Given the description of an element on the screen output the (x, y) to click on. 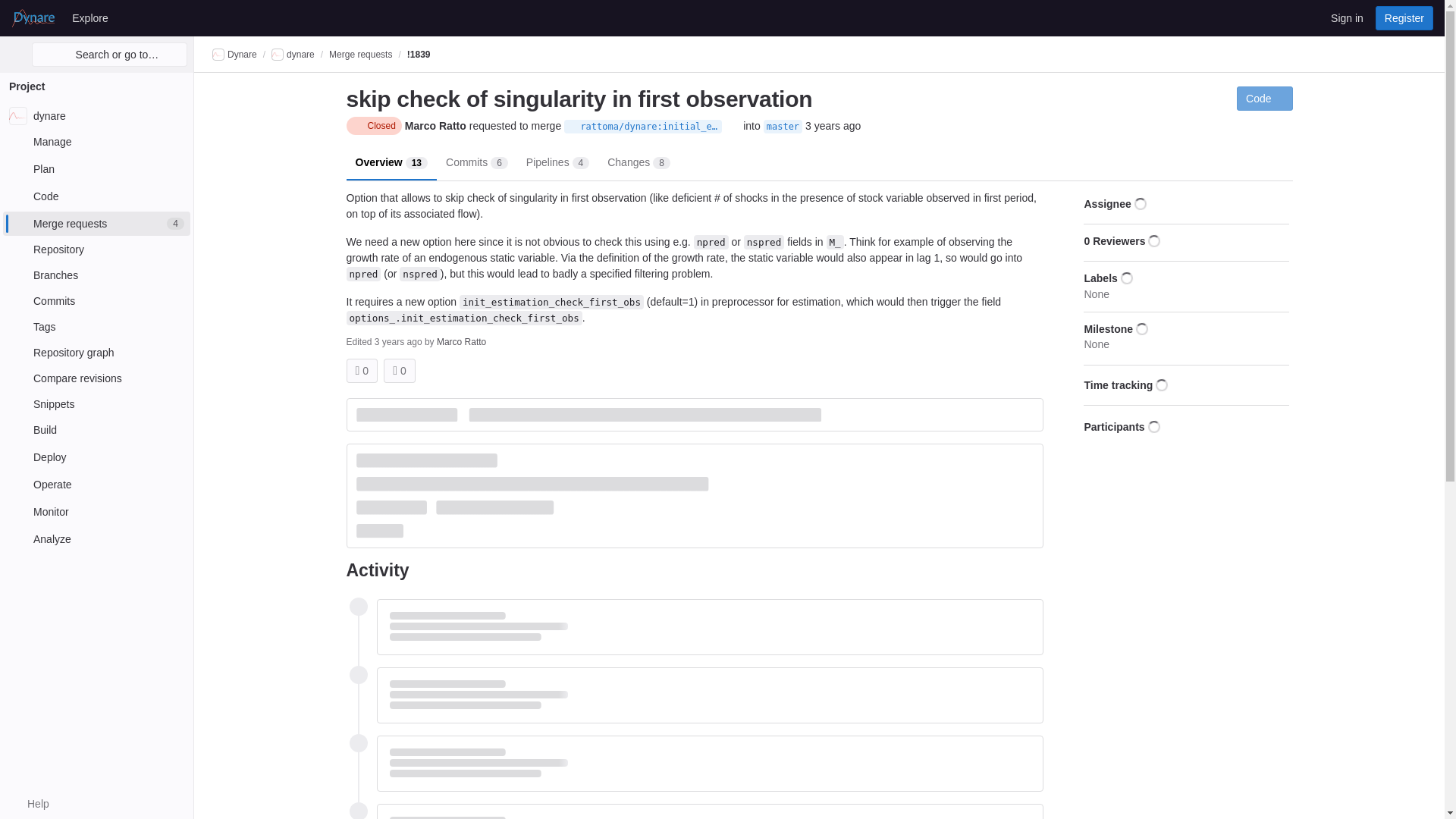
Sign in (1347, 17)
Plan (96, 168)
Repository (96, 249)
Commits (96, 300)
Repository graph (96, 352)
Tags (96, 326)
Monitor (96, 511)
Deploy (96, 457)
Explore (89, 17)
Snippets (96, 404)
